Given the description of an element on the screen output the (x, y) to click on. 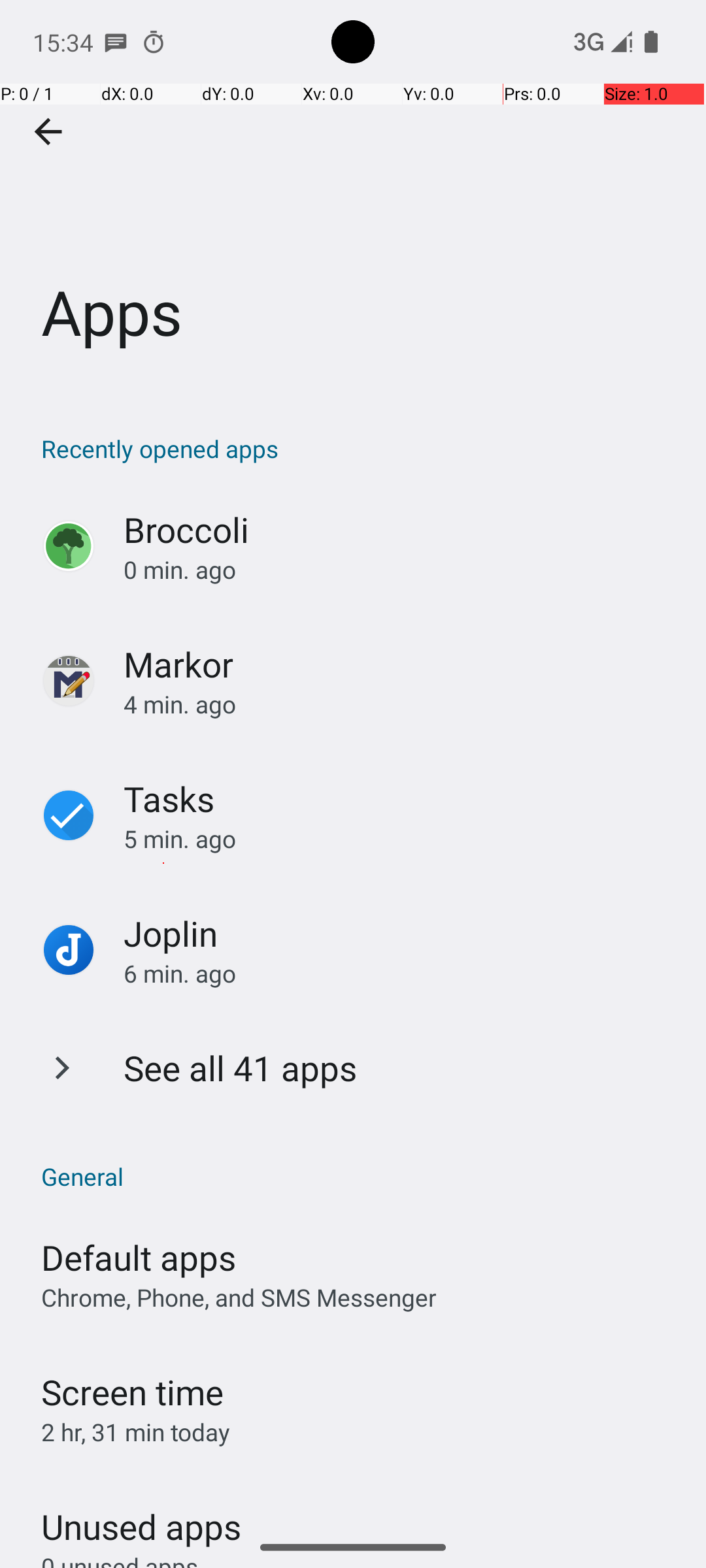
5 min. ago Element type: android.widget.TextView (400, 838)
6 min. ago Element type: android.widget.TextView (400, 972)
2 hr, 31 min today Element type: android.widget.TextView (135, 1431)
